Given the description of an element on the screen output the (x, y) to click on. 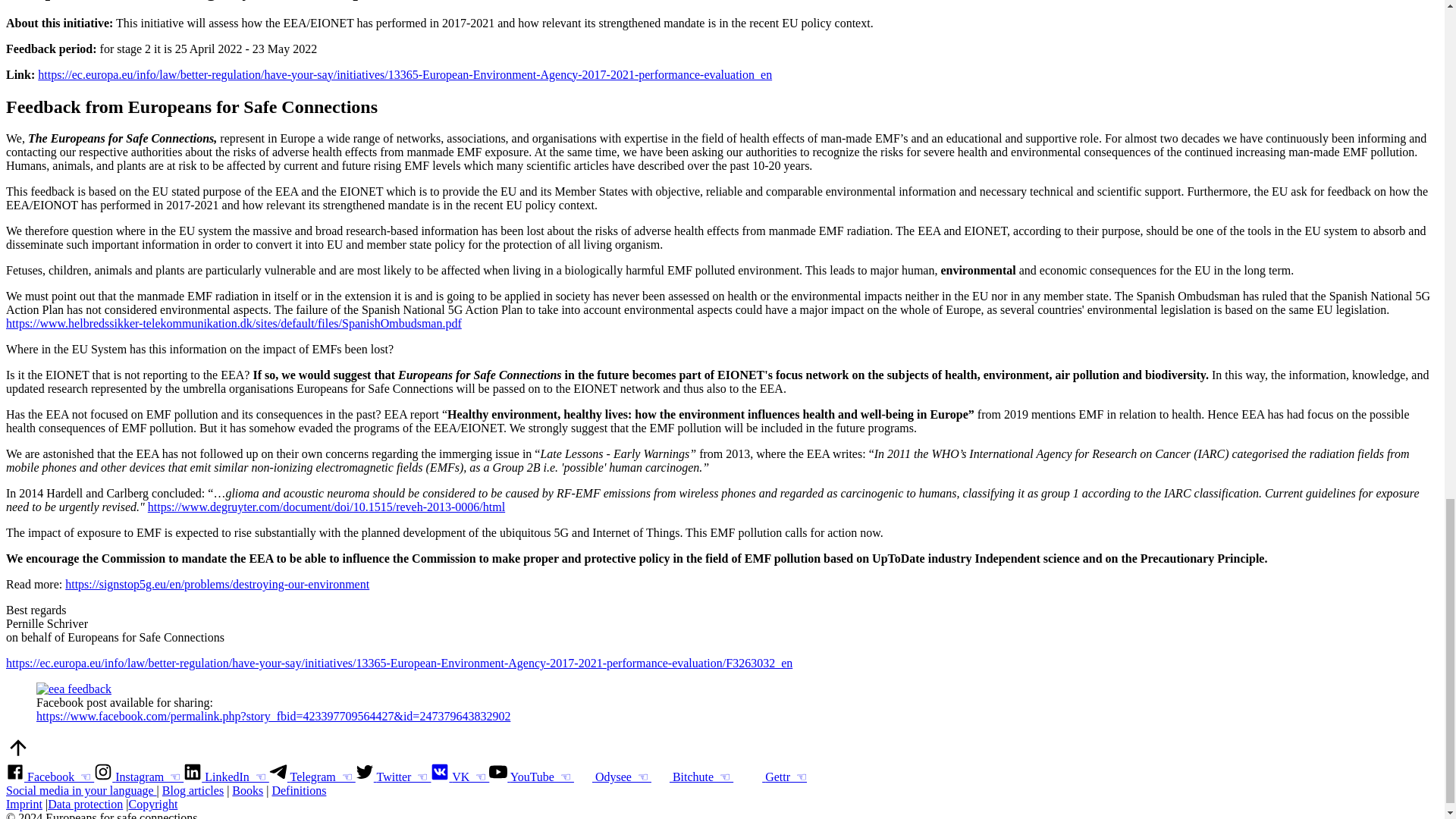
YouTube (531, 776)
Instagram (138, 776)
LinkedIn (226, 776)
eea feedback (74, 689)
VK (459, 776)
Twitter (392, 776)
Facebook (49, 776)
Odysee (611, 776)
Bitchute (691, 776)
Telegram (312, 776)
